Given the description of an element on the screen output the (x, y) to click on. 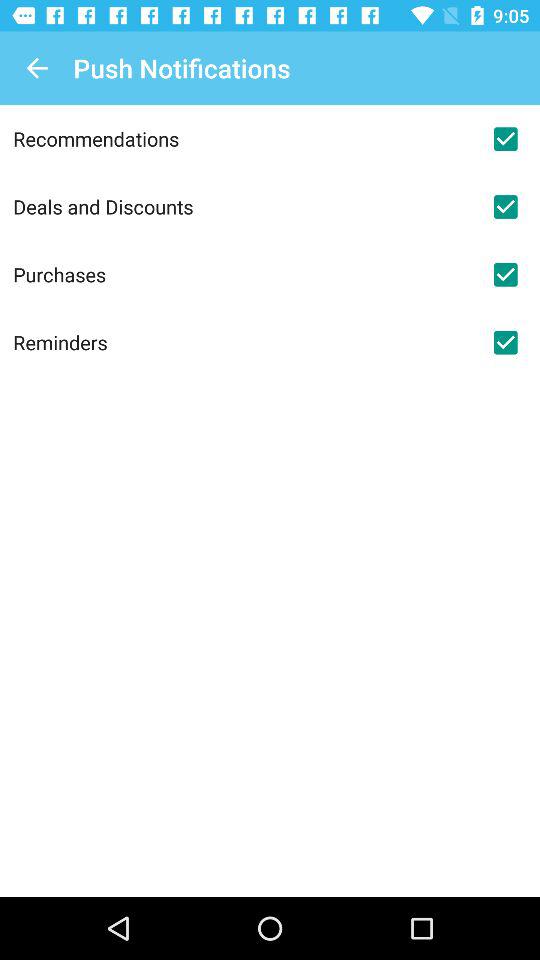
turn on/off reccomendations (505, 139)
